Given the description of an element on the screen output the (x, y) to click on. 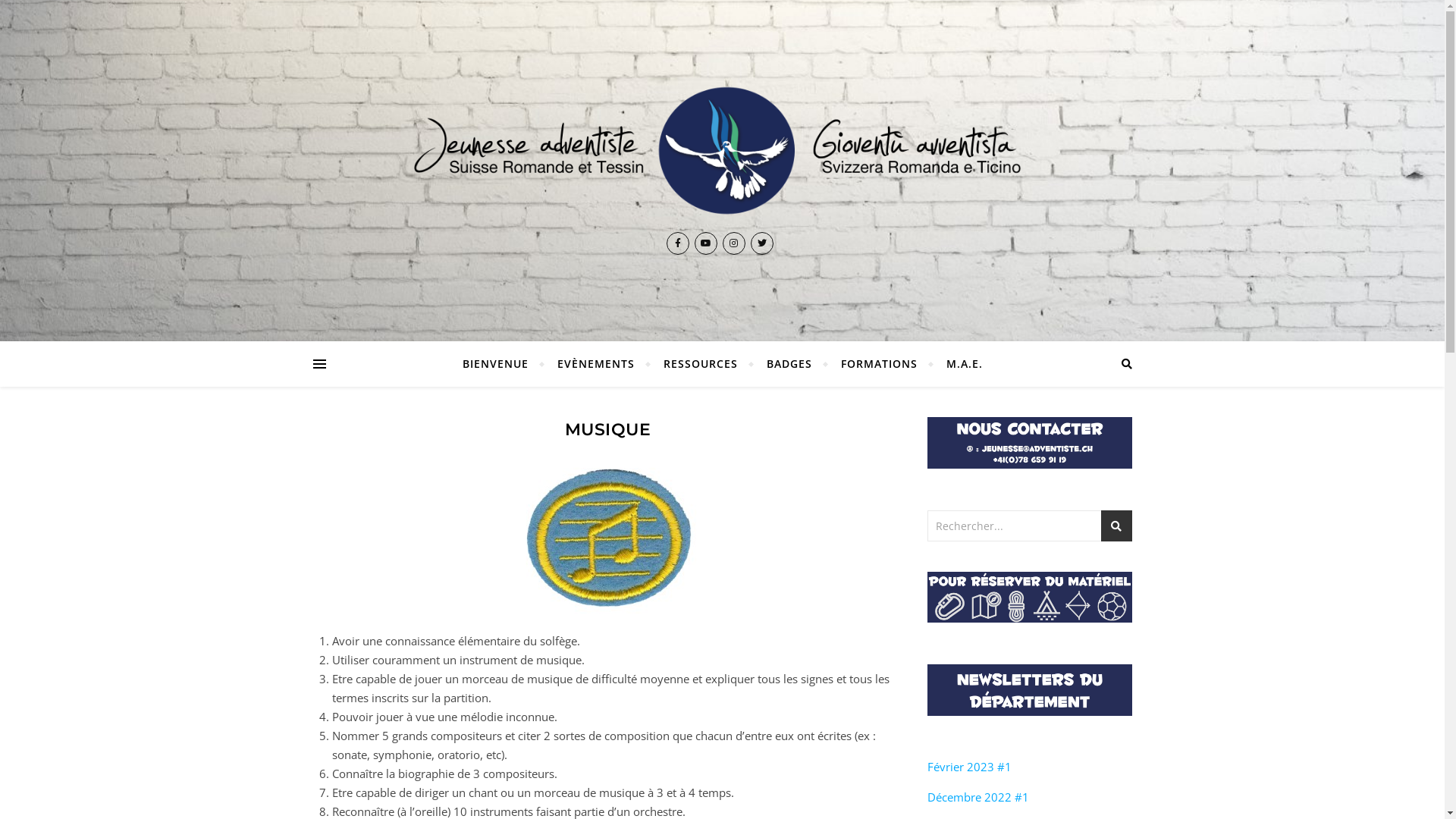
FORMATIONS Element type: text (879, 363)
st Element type: text (1116, 524)
M.A.E. Element type: text (957, 363)
Jeunesse Adventiste Element type: hover (721, 150)
BIENVENUE Element type: text (501, 363)
RESSOURCES Element type: text (700, 363)
BADGES Element type: text (789, 363)
